Given the description of an element on the screen output the (x, y) to click on. 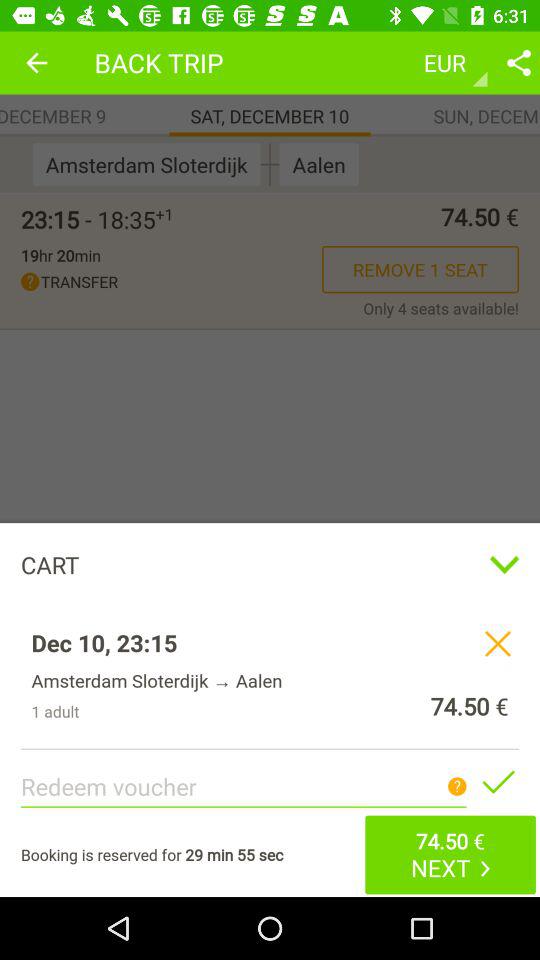
redeem voucher (498, 781)
